Given the description of an element on the screen output the (x, y) to click on. 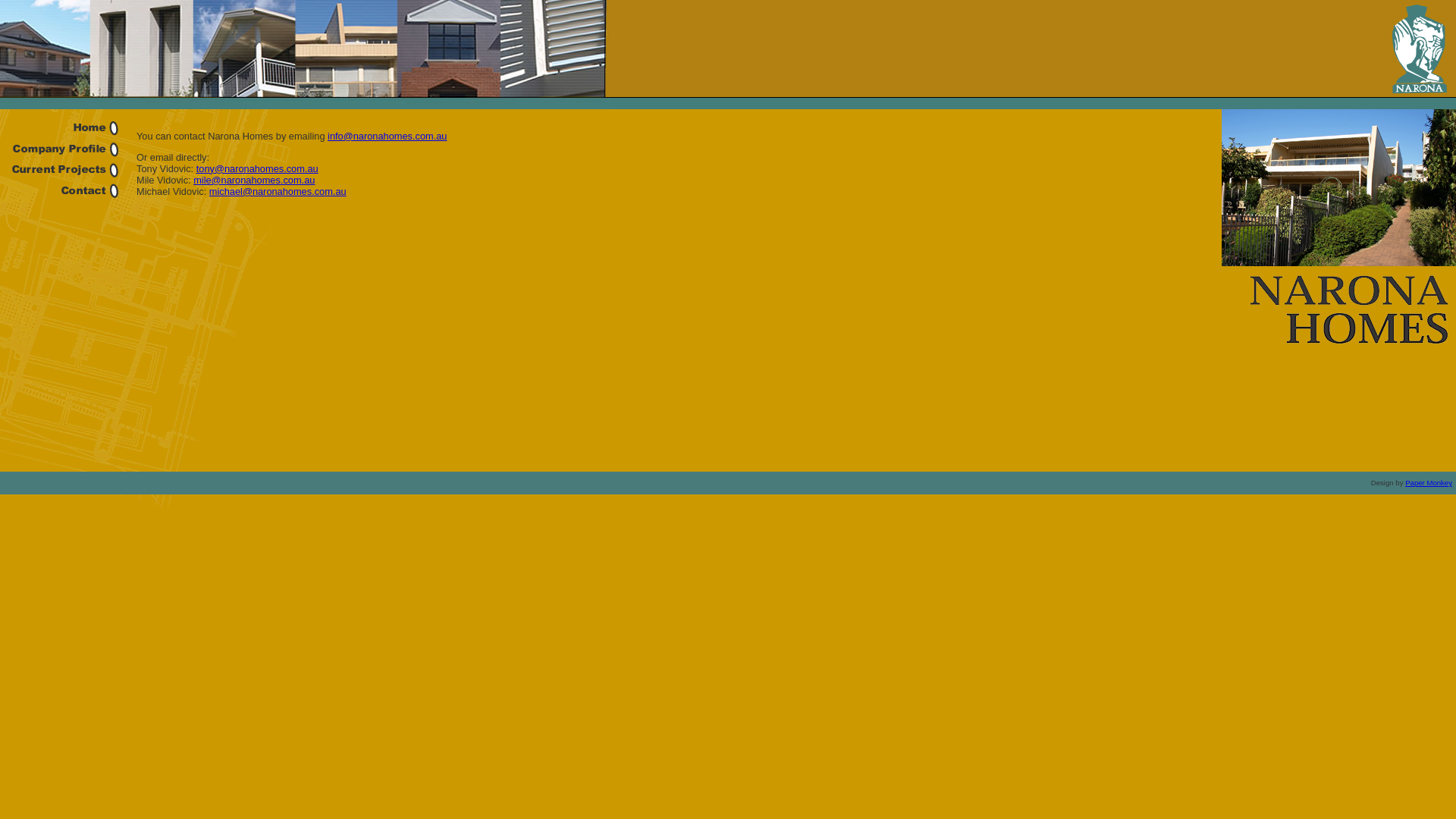
mile@naronahomes.com.au Element type: text (253, 179)
info@naronahomes.com.au Element type: text (386, 135)
Paper Monkey Element type: text (1428, 482)
michael@naronahomes.com.au Element type: text (277, 191)
tony@naronahomes.com.au Element type: text (257, 168)
